Given the description of an element on the screen output the (x, y) to click on. 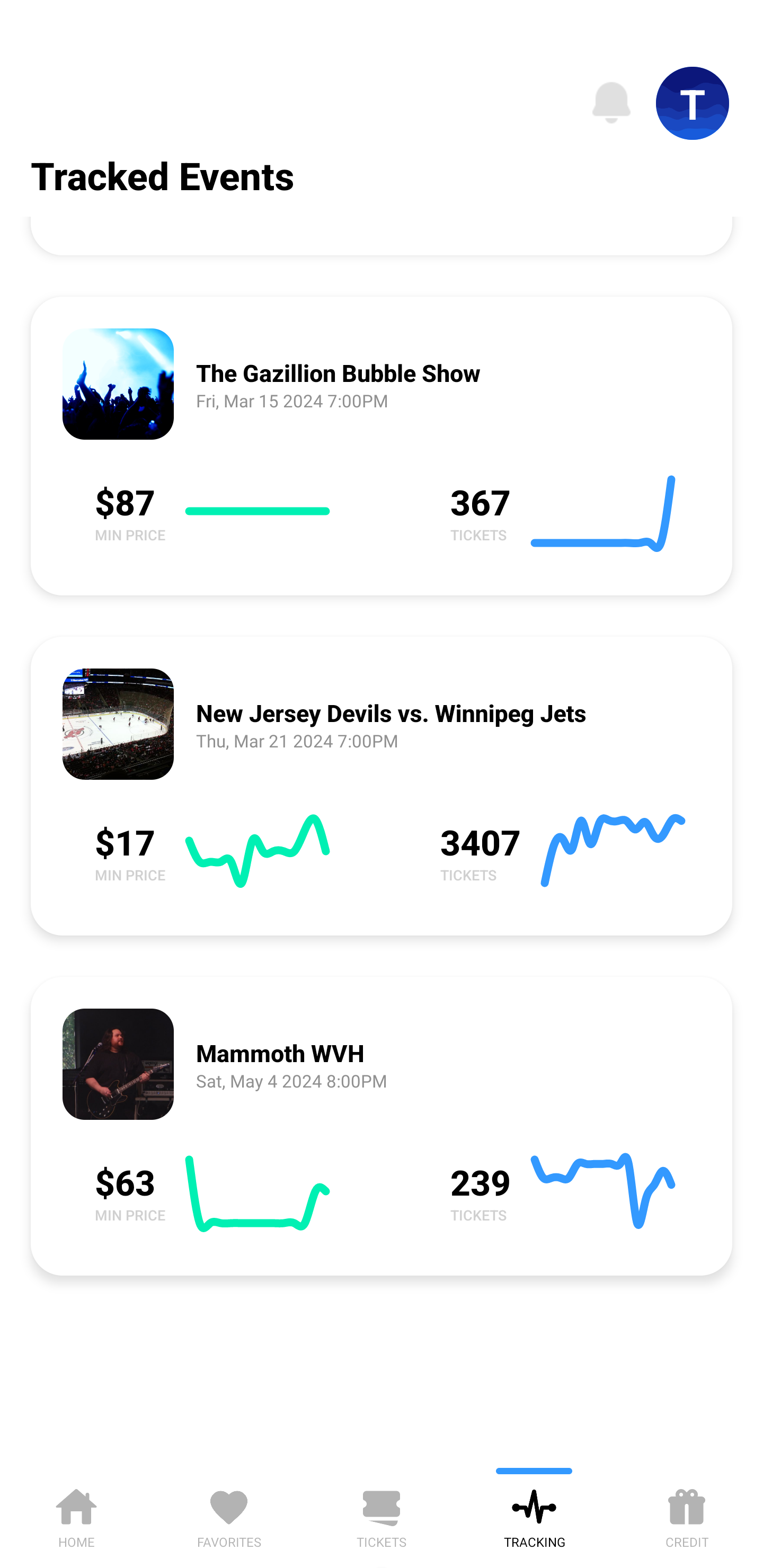
T (692, 103)
HOME (76, 1515)
FAVORITES (228, 1515)
TICKETS (381, 1515)
TRACKING (533, 1515)
CREDIT (686, 1515)
